Given the description of an element on the screen output the (x, y) to click on. 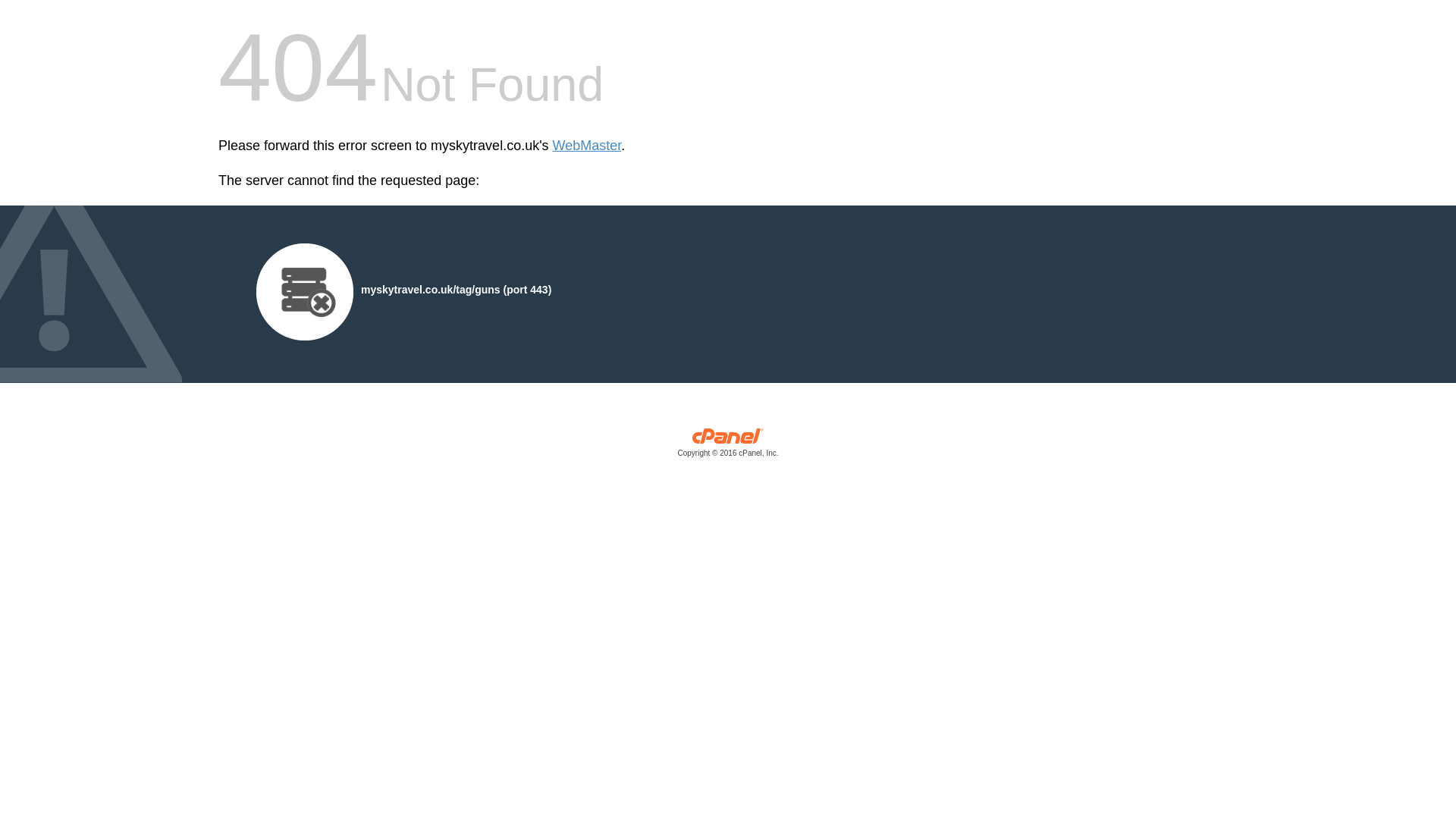
cPanel, Inc. (727, 446)
WebMaster (587, 145)
